Given the description of an element on the screen output the (x, y) to click on. 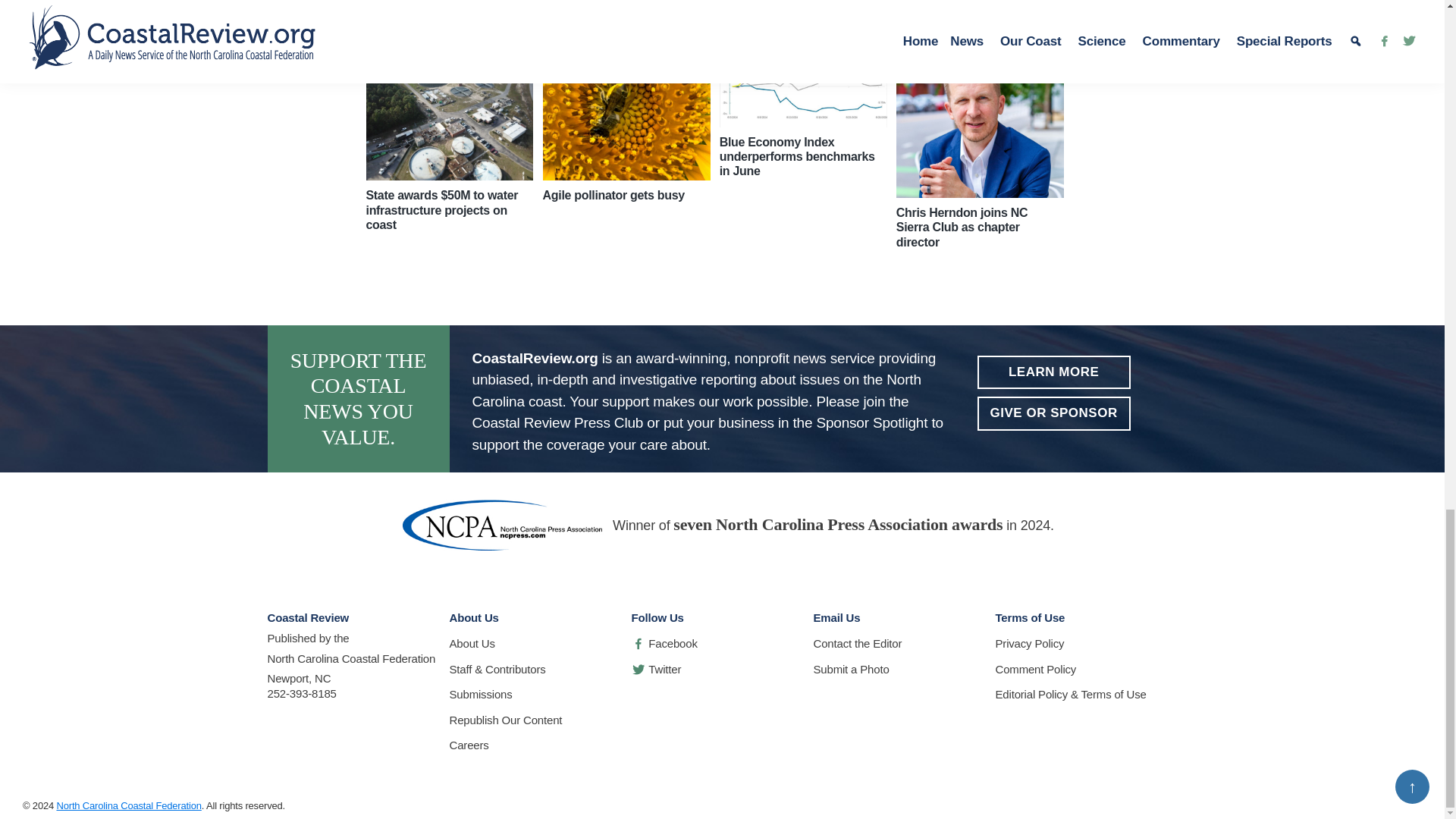
Permanent Link to Agile pollinator gets busy (613, 195)
Permanent Link to Agile pollinator gets busy (626, 117)
